Given the description of an element on the screen output the (x, y) to click on. 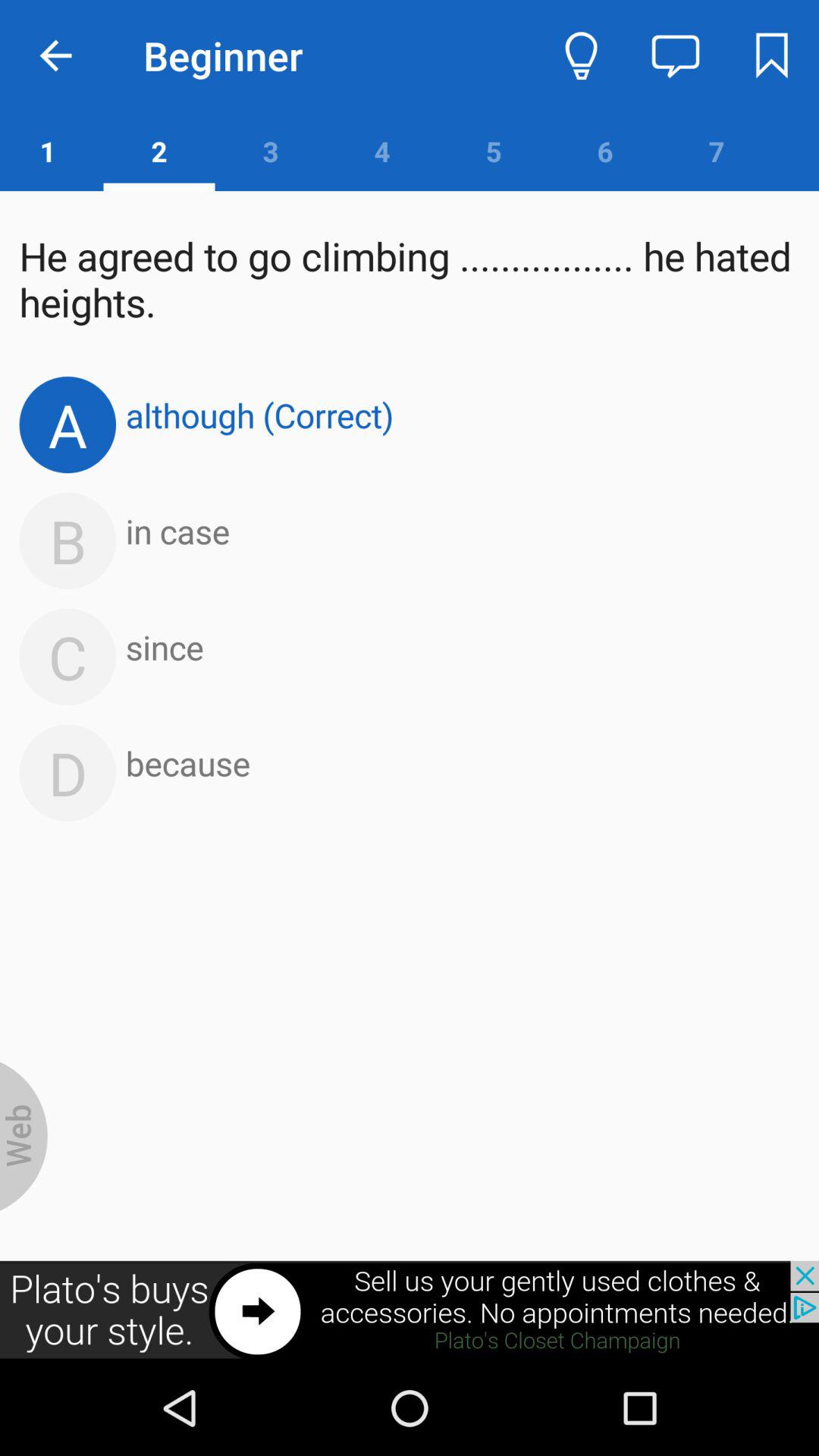
search on internet (23, 1135)
